Given the description of an element on the screen output the (x, y) to click on. 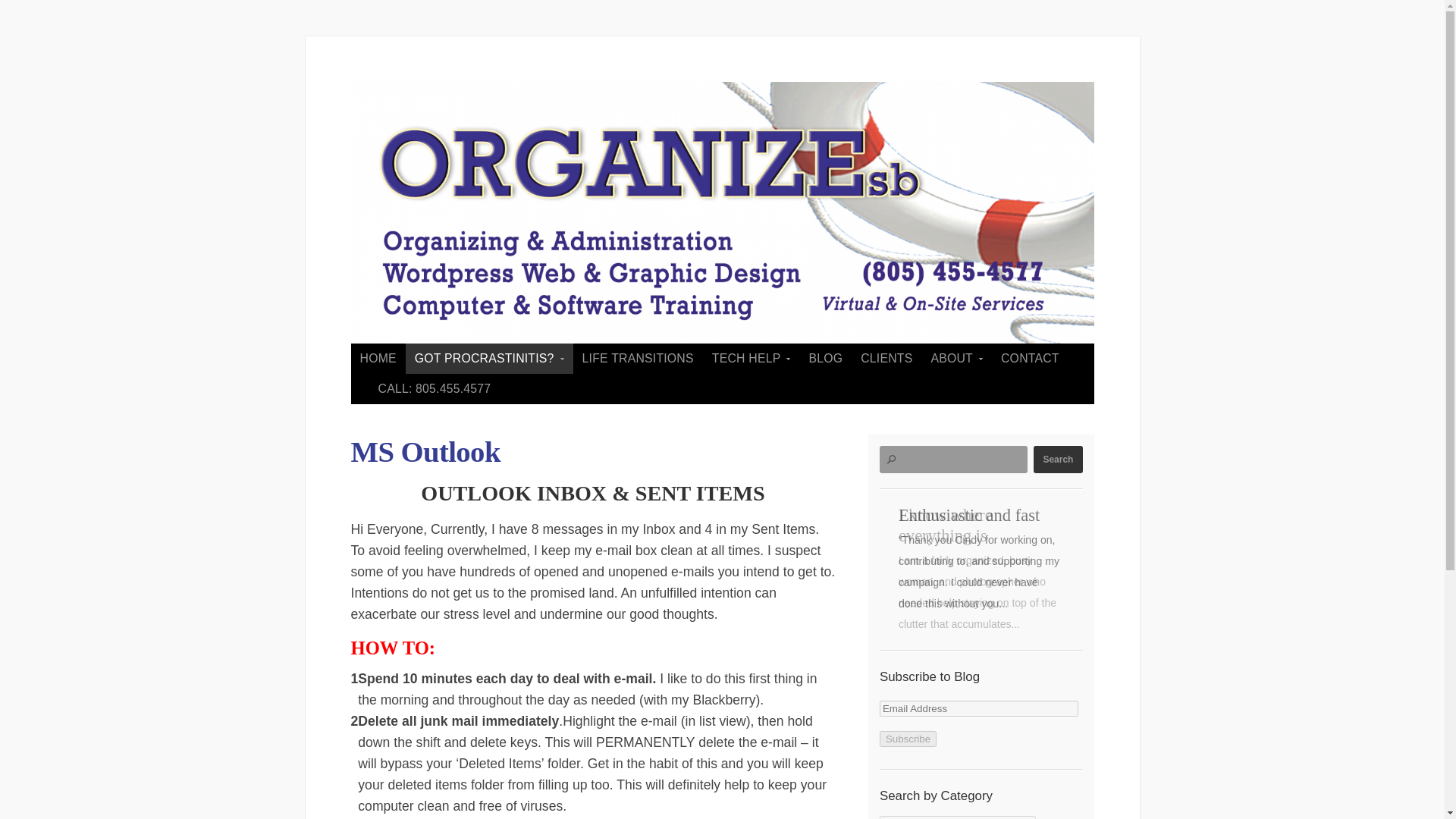
CALL: 805.455.4577 (433, 388)
CLIENTS (886, 358)
Subscribe (907, 738)
eMediaPub.com (751, 358)
Search (1057, 459)
BLOG (825, 358)
What we do (489, 358)
HOME (377, 358)
CONTACT (1029, 358)
Who we are (956, 358)
LIFE TRANSITIONS (638, 358)
